Given the description of an element on the screen output the (x, y) to click on. 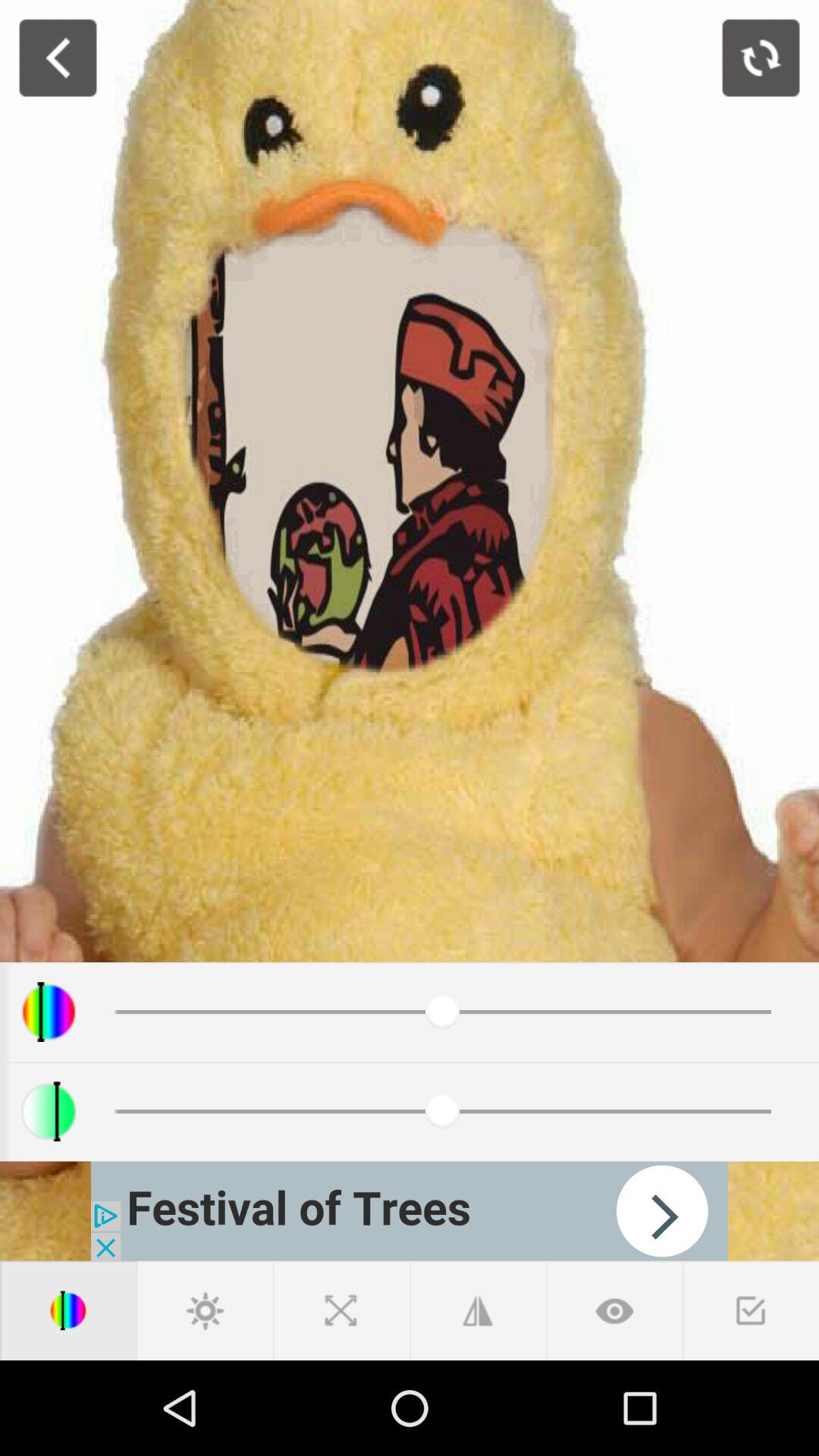
photo (760, 57)
